Given the description of an element on the screen output the (x, y) to click on. 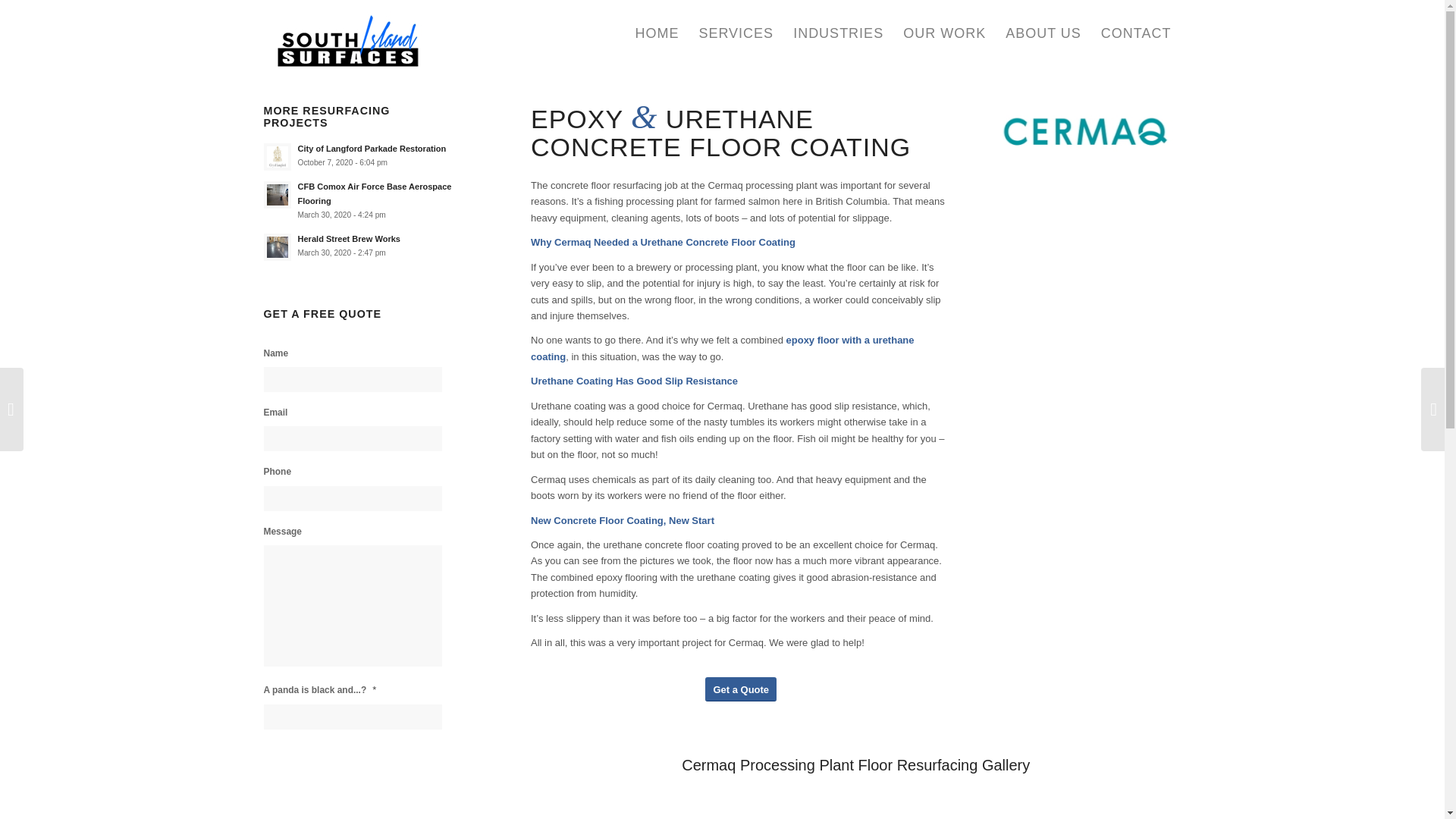
SERVICES (735, 33)
CONTACT (1135, 33)
Get a Quote (740, 689)
HOME (656, 33)
City of Langford Parkade Restoration (371, 148)
ABOUT US (1042, 33)
OUR WORK (944, 33)
SIS-Logo (348, 33)
INDUSTRIES (838, 33)
epoxy floor with a urethane coating (722, 347)
